Given the description of an element on the screen output the (x, y) to click on. 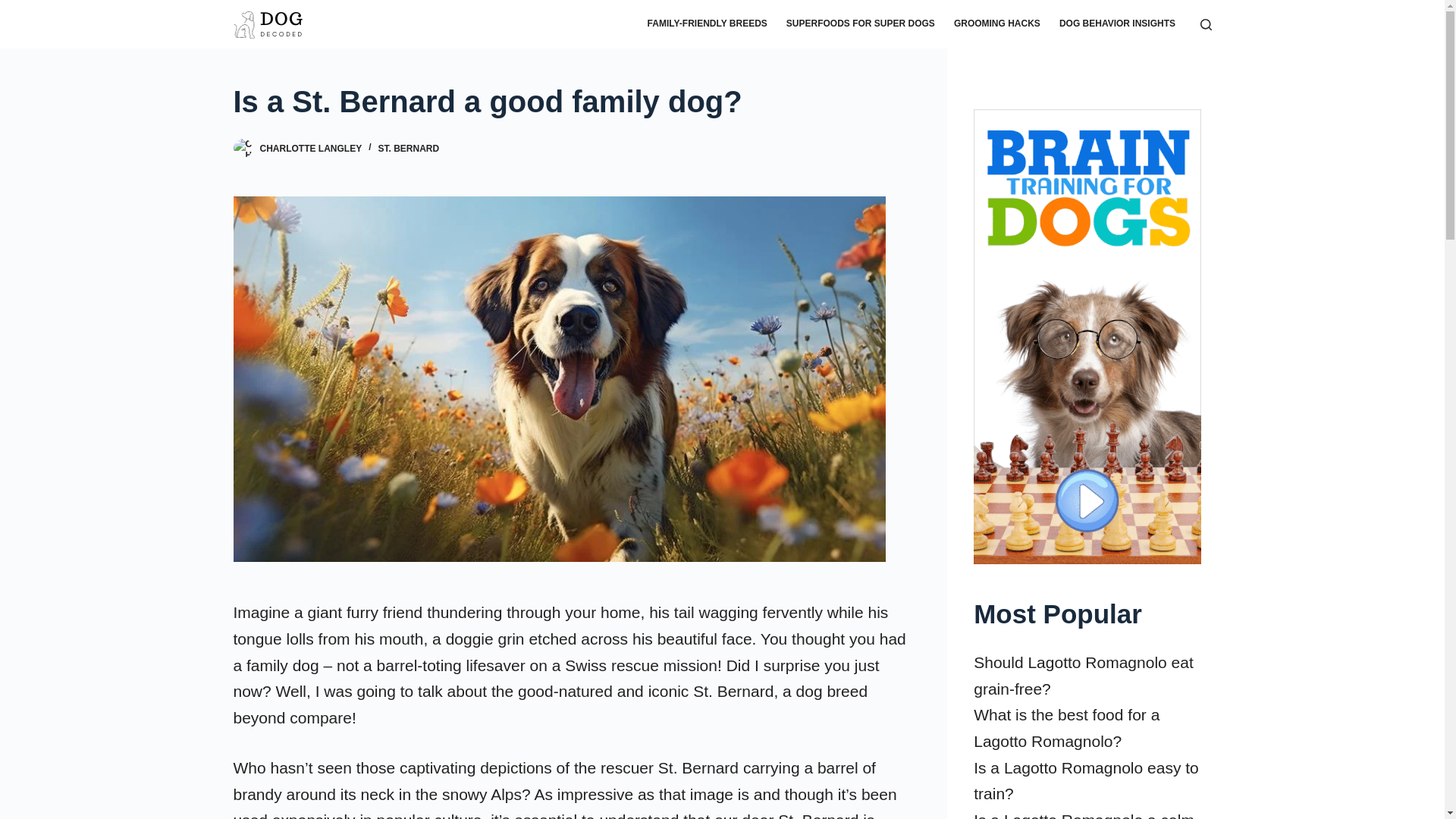
Posts by Charlotte Langley (310, 148)
ST. BERNARD (408, 148)
GROOMING HACKS (996, 24)
CHARLOTTE LANGLEY (310, 148)
Is a Lagotto Romagnolo easy to train? (1086, 781)
Is a Lagotto Romagnolo a calm dog? (1083, 815)
FAMILY-FRIENDLY BREEDS (706, 24)
What is the best food for a Lagotto Romagnolo? (1066, 727)
Skip to content (15, 7)
SUPERFOODS FOR SUPER DOGS (859, 24)
